Given the description of an element on the screen output the (x, y) to click on. 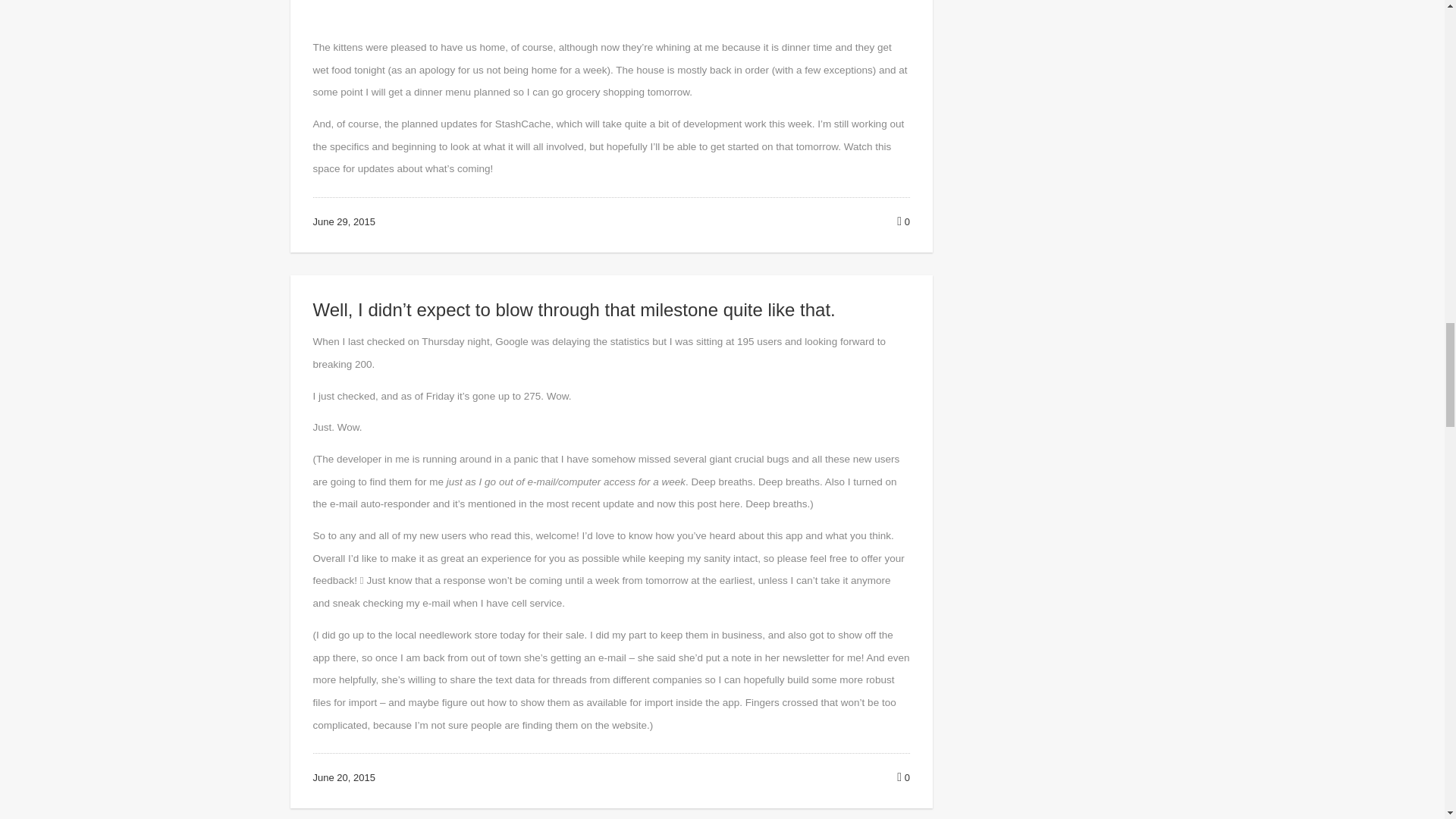
June 20, 2015 (343, 777)
0 (903, 221)
June 29, 2015 (343, 221)
0 (903, 777)
